Given the description of an element on the screen output the (x, y) to click on. 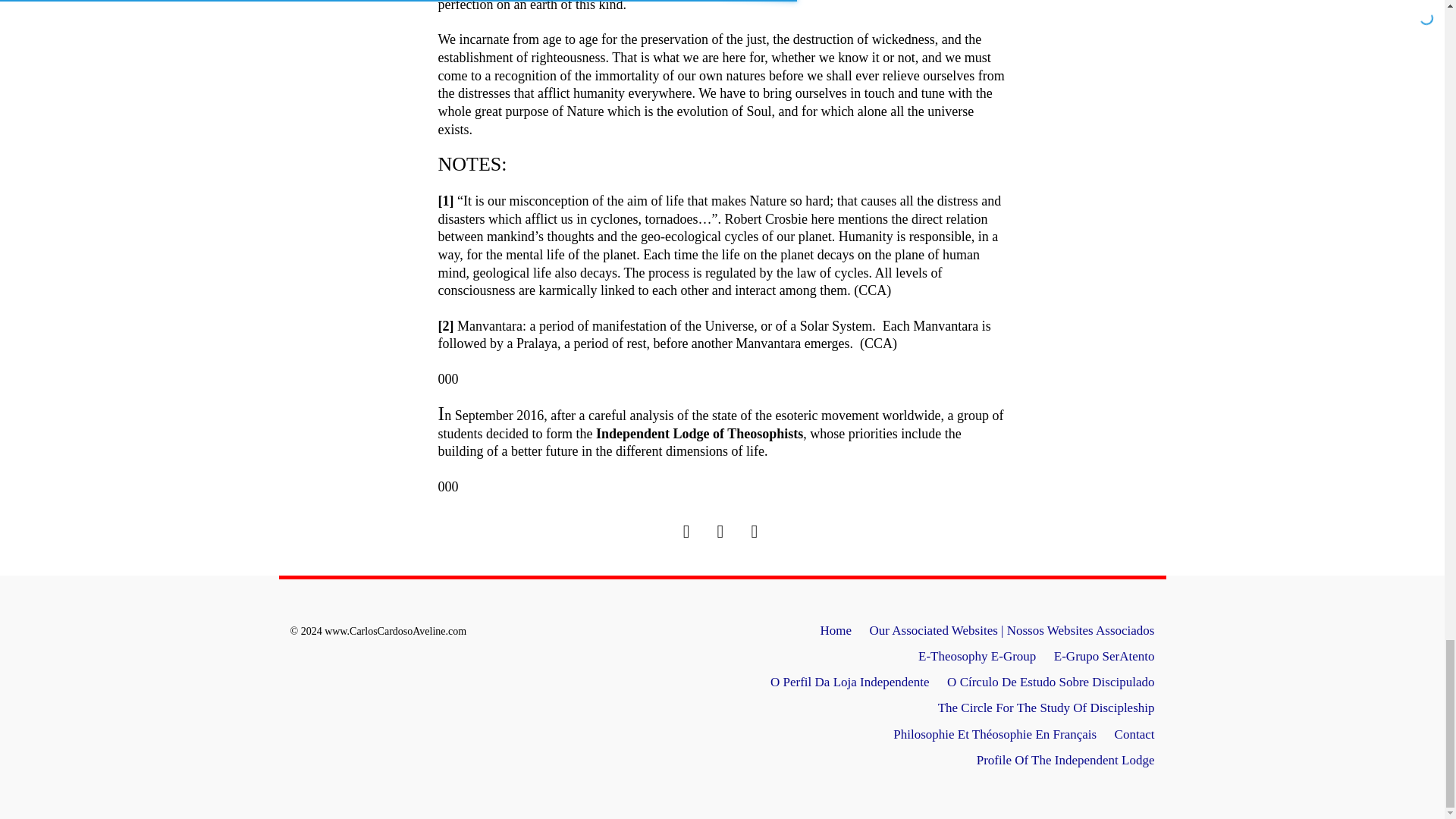
Home (836, 630)
E-Grupo SerAtento (1104, 656)
E-Theosophy E-Group (976, 656)
O Perfil Da Loja Independente (850, 681)
